Given the description of an element on the screen output the (x, y) to click on. 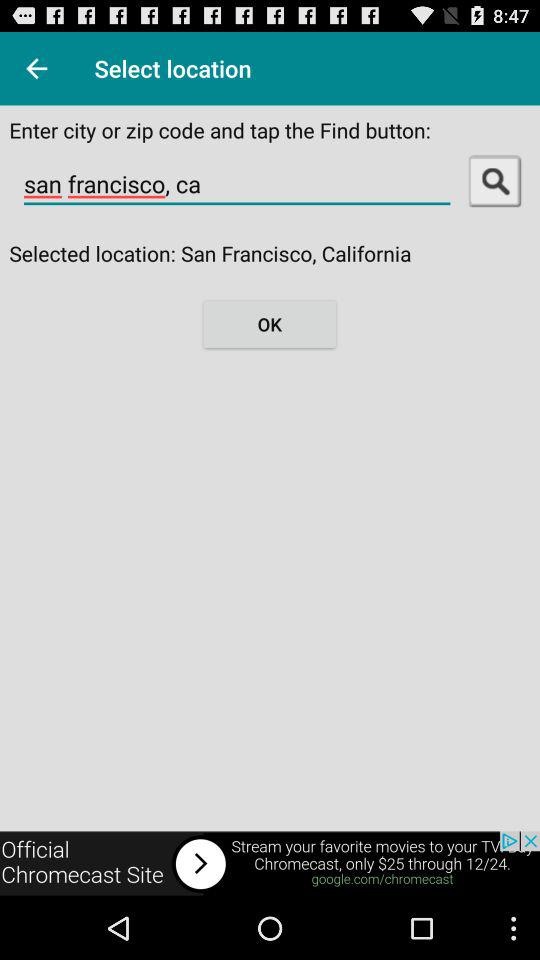
go to rite pega (36, 68)
